Given the description of an element on the screen output the (x, y) to click on. 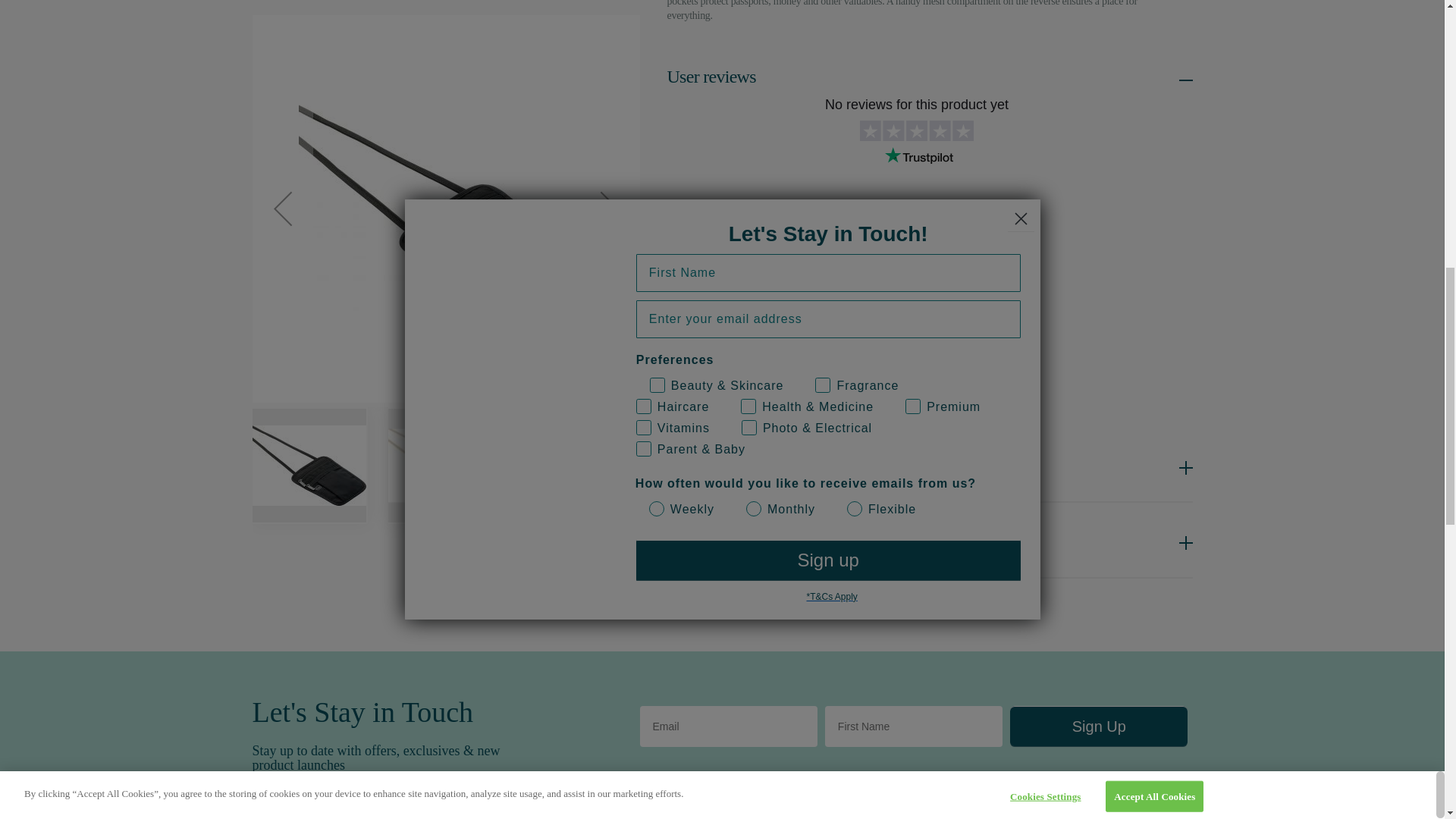
on (649, 810)
on (759, 810)
on (872, 810)
